Given the description of an element on the screen output the (x, y) to click on. 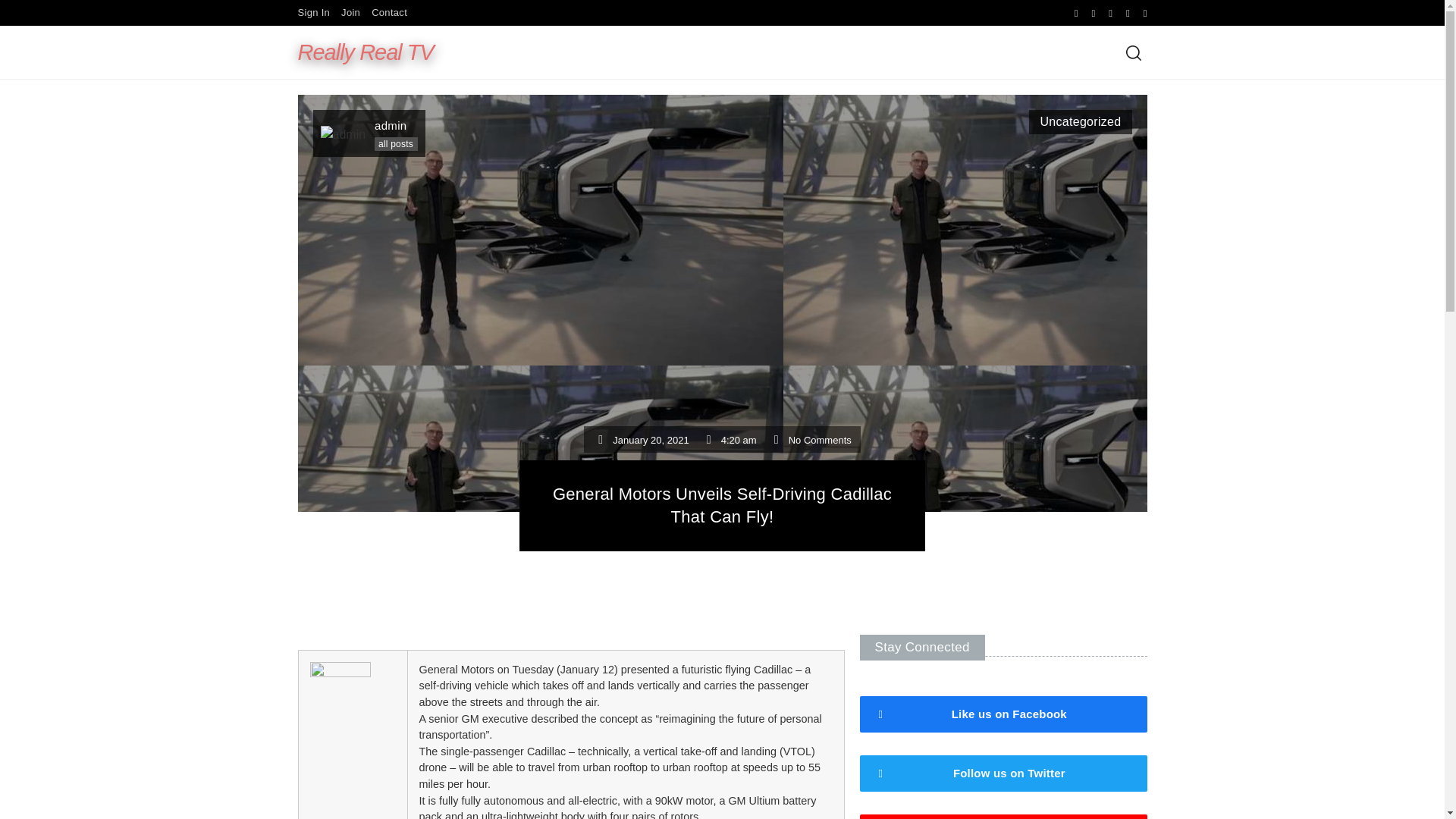
Follow us on Twitter (1003, 773)
Like us on Facebook (1003, 714)
Really Real TV (364, 6)
Subscribe to our channel (1003, 816)
Uncategorized (1080, 121)
all posts (395, 143)
